Given the description of an element on the screen output the (x, y) to click on. 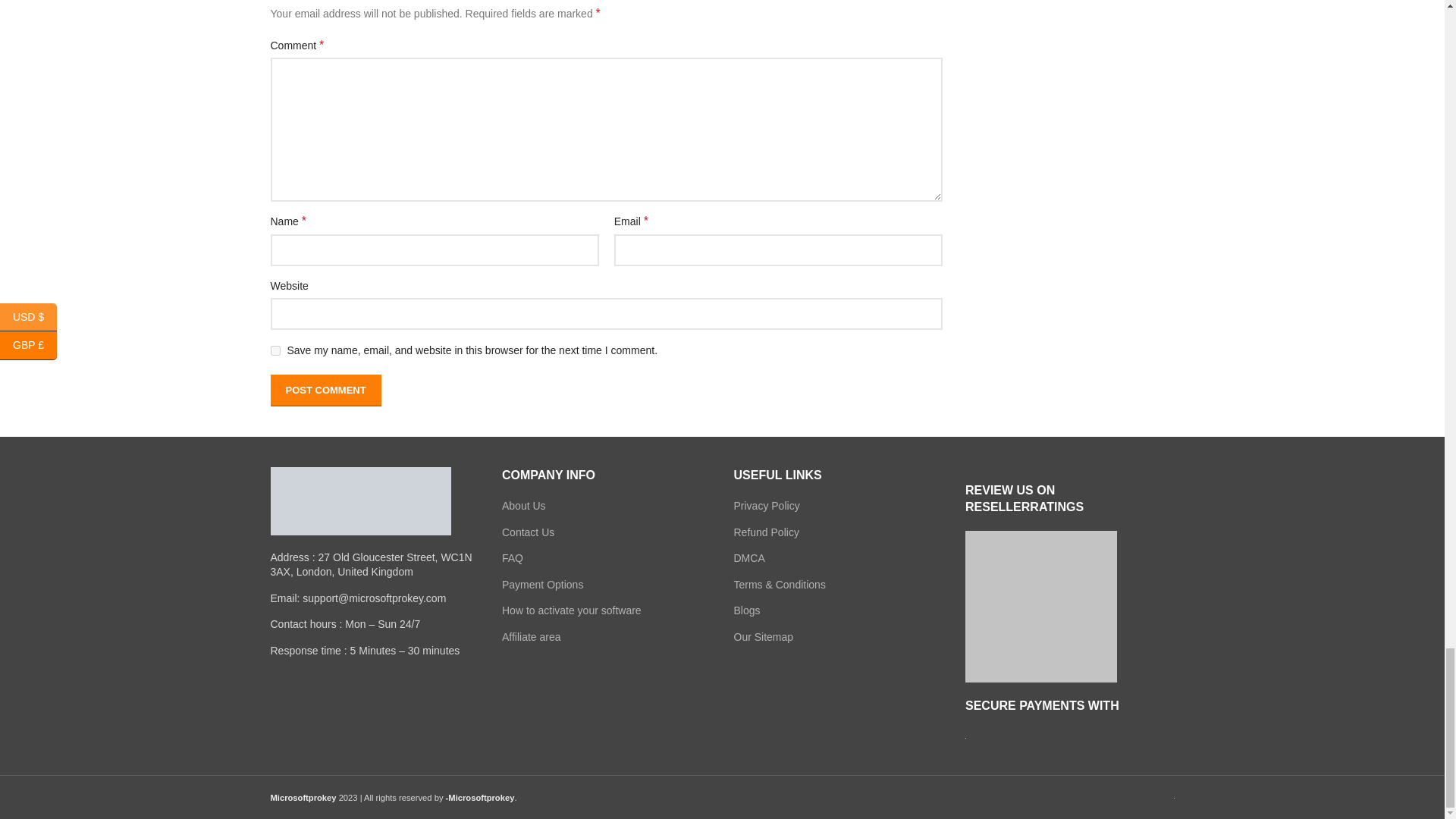
Post Comment (324, 390)
yes (274, 350)
